Given the description of an element on the screen output the (x, y) to click on. 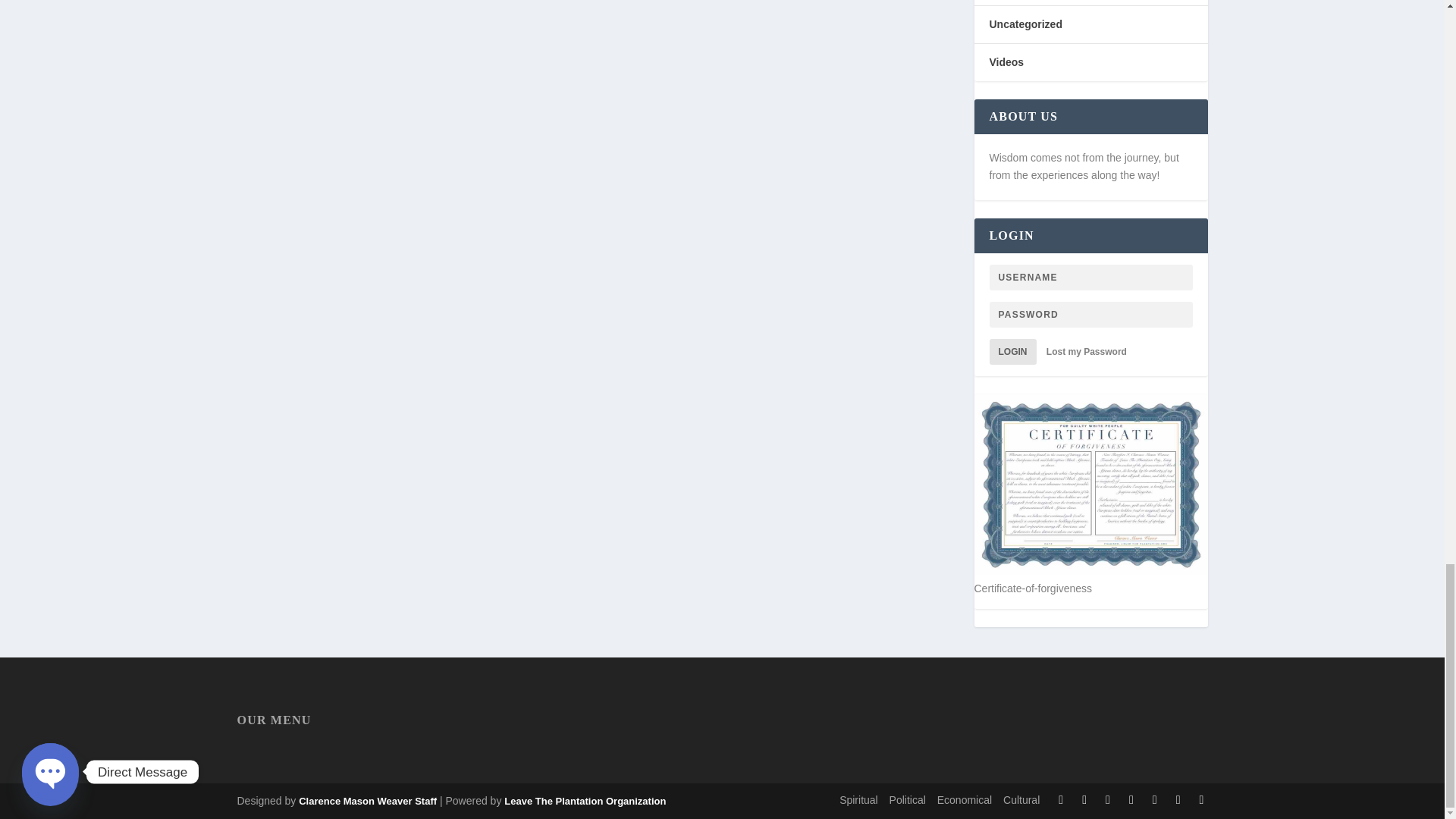
Leave the Plantation Organization (367, 800)
